Given the description of an element on the screen output the (x, y) to click on. 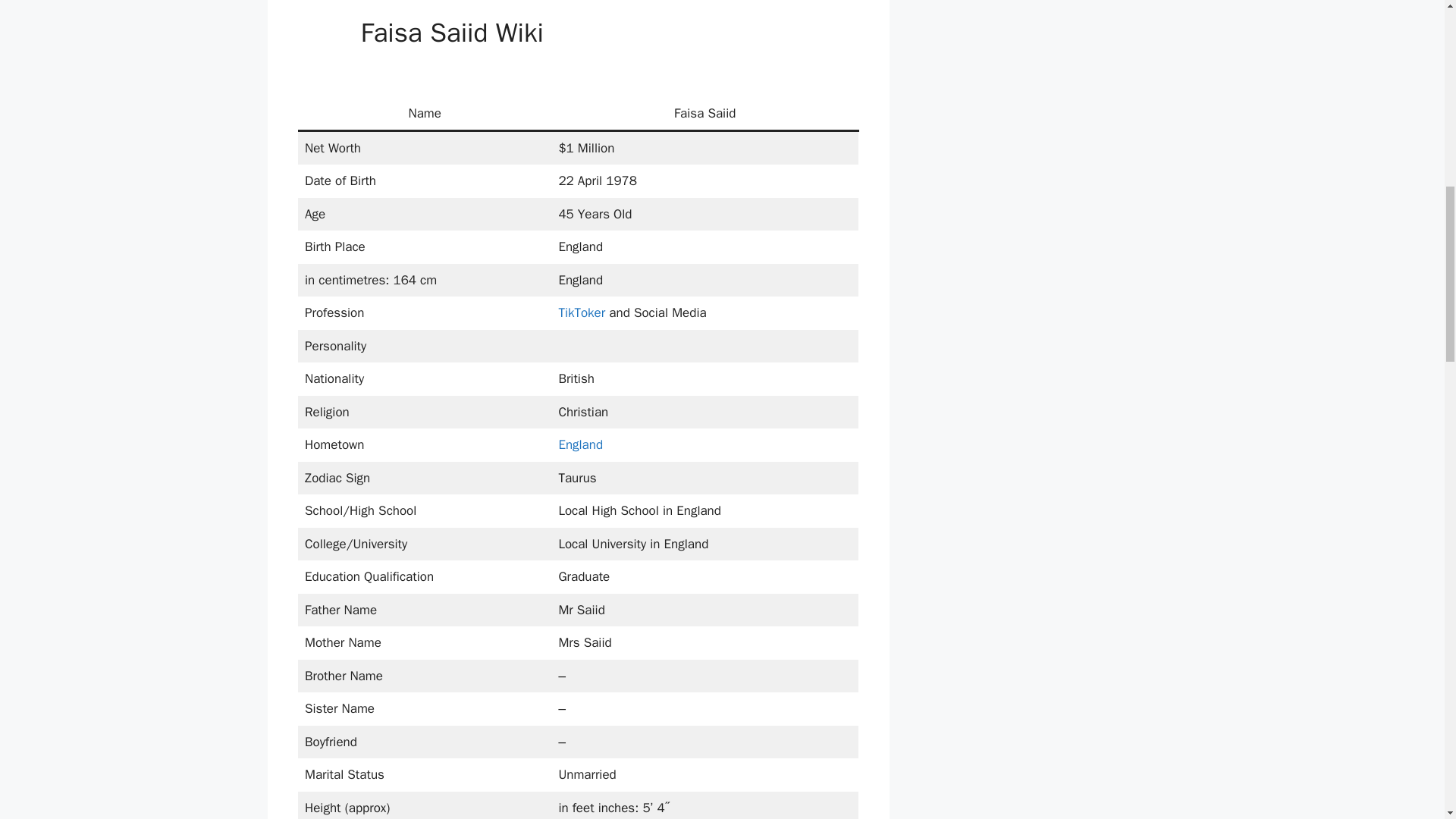
TikToker (581, 312)
Scroll back to top (1406, 720)
England (579, 444)
